Given the description of an element on the screen output the (x, y) to click on. 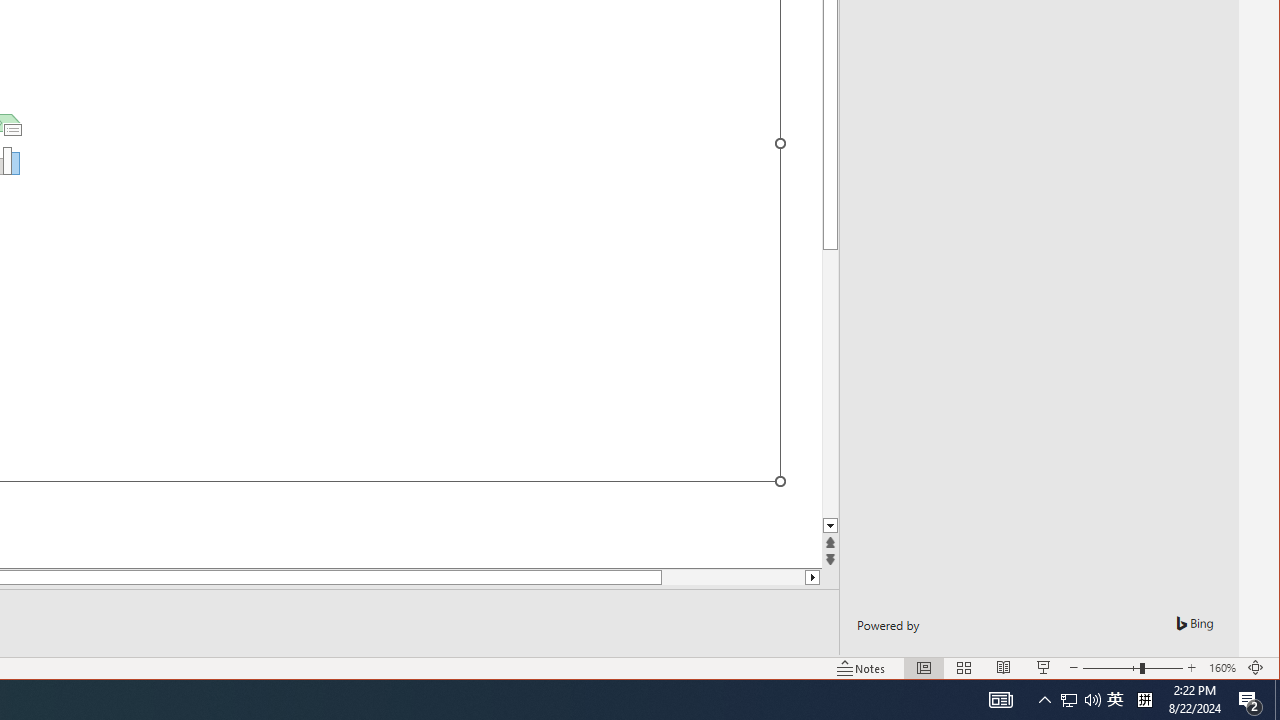
Show desktop (1277, 699)
AutomationID: 4105 (1000, 699)
Line down (829, 525)
Action Center, 2 new notifications (1250, 699)
User Promoted Notification Area (1080, 699)
Q2790: 100% (1092, 699)
Notes  (861, 668)
Tray Input Indicator - Chinese (Simplified, China) (1144, 699)
Page down (1069, 699)
